Given the description of an element on the screen output the (x, y) to click on. 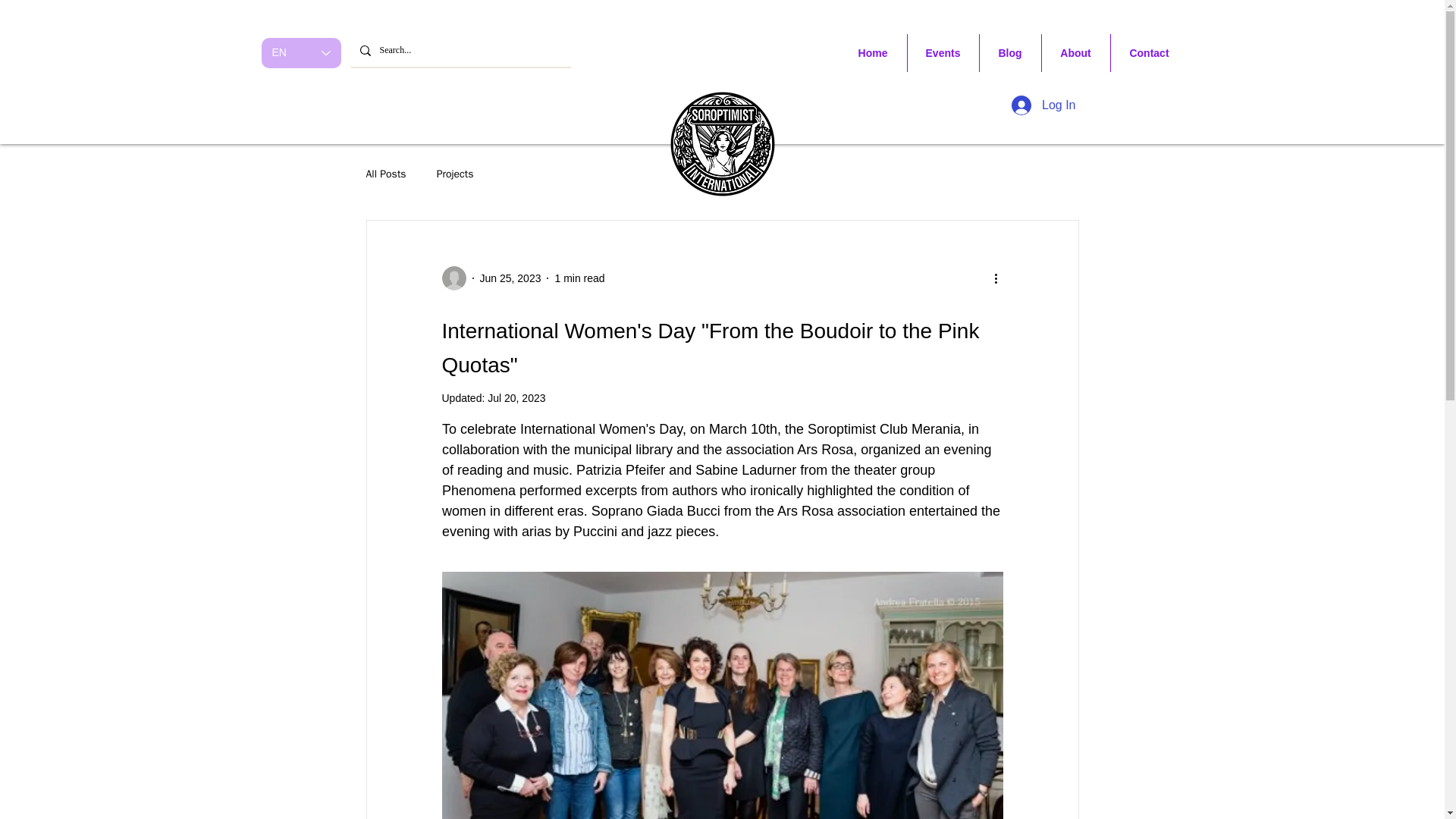
Contact (1148, 53)
Jun 25, 2023 (509, 277)
All Posts (385, 173)
Home (871, 53)
Log In (1043, 104)
About (1075, 53)
soroptimist-international-logo.png (721, 143)
Blog (1010, 53)
Events (942, 53)
1 min read (579, 277)
